Given the description of an element on the screen output the (x, y) to click on. 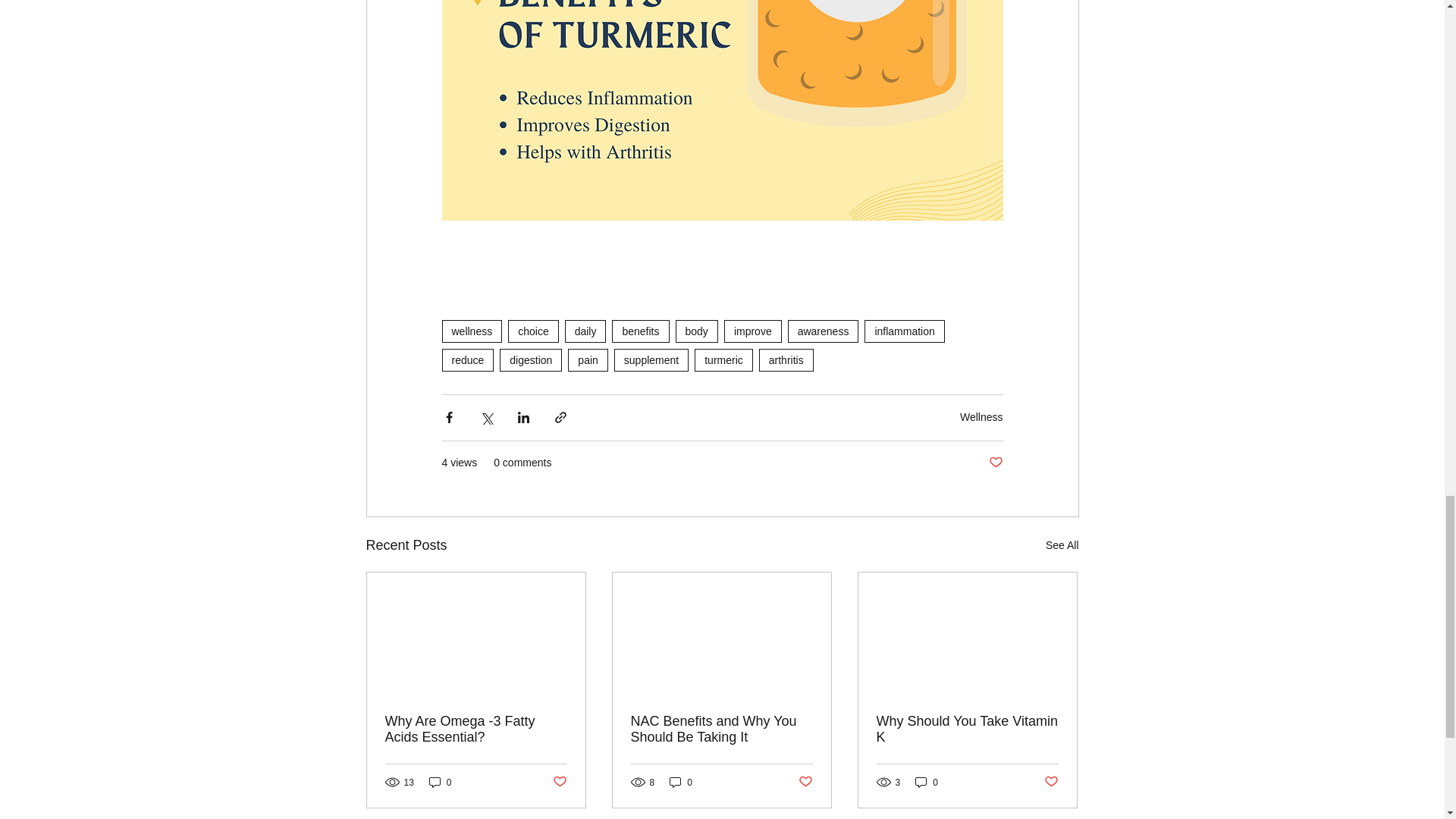
body (696, 331)
See All (1061, 545)
digestion (530, 359)
improve (752, 331)
benefits (639, 331)
inflammation (903, 331)
reduce (467, 359)
supplement (651, 359)
daily (585, 331)
arthritis (785, 359)
